Given the description of an element on the screen output the (x, y) to click on. 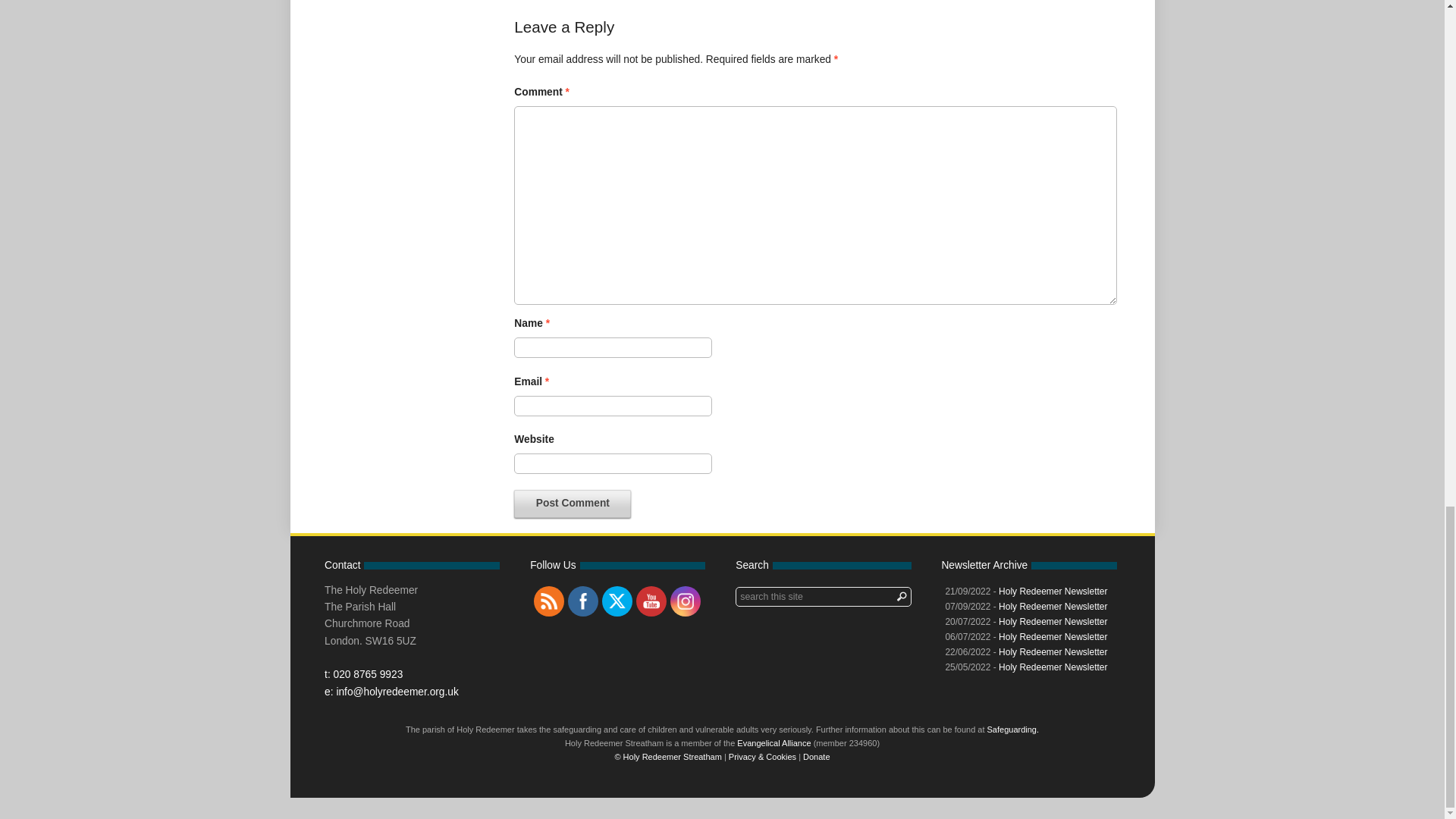
Twitter (617, 601)
RSS (548, 600)
Holy Redeemer Newsletter (1052, 606)
Holy Redeemer Newsletter (1052, 591)
Holy Redeemer Newsletter (1052, 621)
Instagram (685, 600)
Holy Redeemer Newsletter (1052, 636)
search this site (823, 596)
YouTube (651, 600)
Post Comment (571, 502)
Facebook (583, 600)
